Given the description of an element on the screen output the (x, y) to click on. 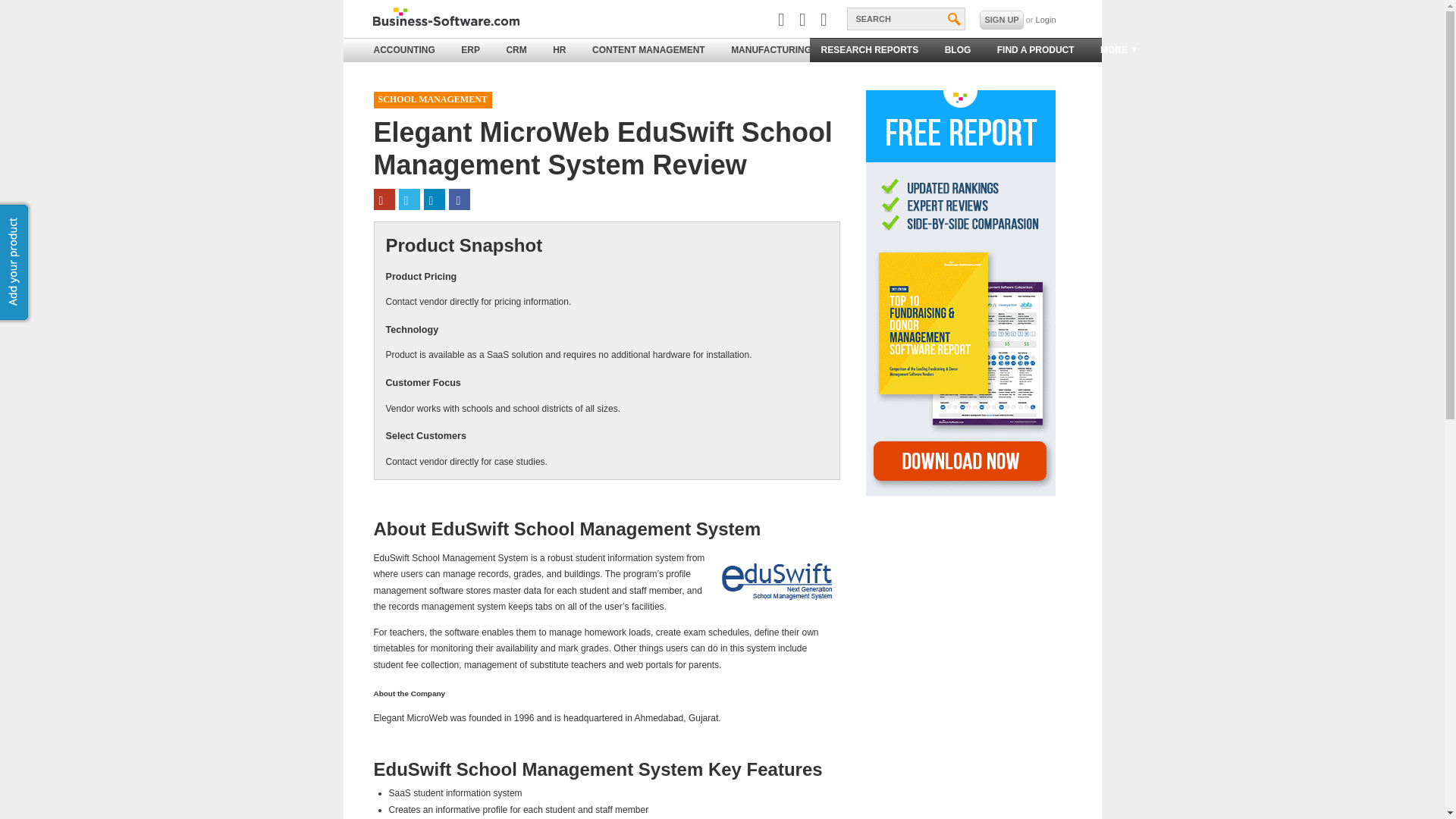
ERP (470, 49)
CRM (516, 49)
BLOG (957, 49)
SIGN UP (1001, 19)
SIGN UP (1001, 19)
FIND A PRODUCT (1035, 49)
SEARCH (906, 18)
ACCOUNTING (404, 49)
Login (1046, 19)
CONTENT MANAGEMENT (648, 49)
HR (558, 49)
SEARCH (906, 18)
RESEARCH REPORTS (869, 49)
MANUFACTURING (770, 49)
LOGIN (1046, 19)
